Given the description of an element on the screen output the (x, y) to click on. 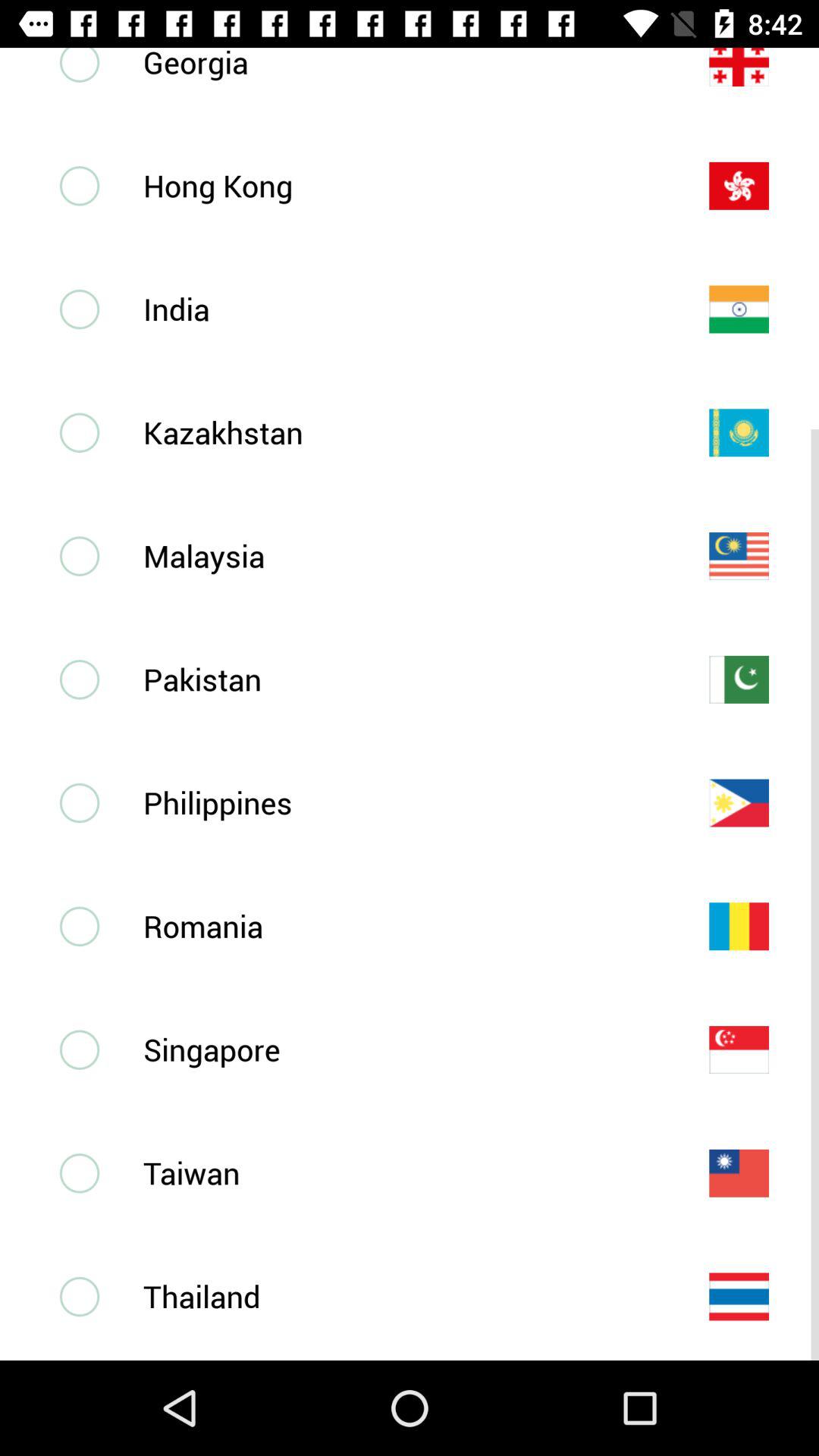
scroll until the kazakhstan icon (401, 432)
